Given the description of an element on the screen output the (x, y) to click on. 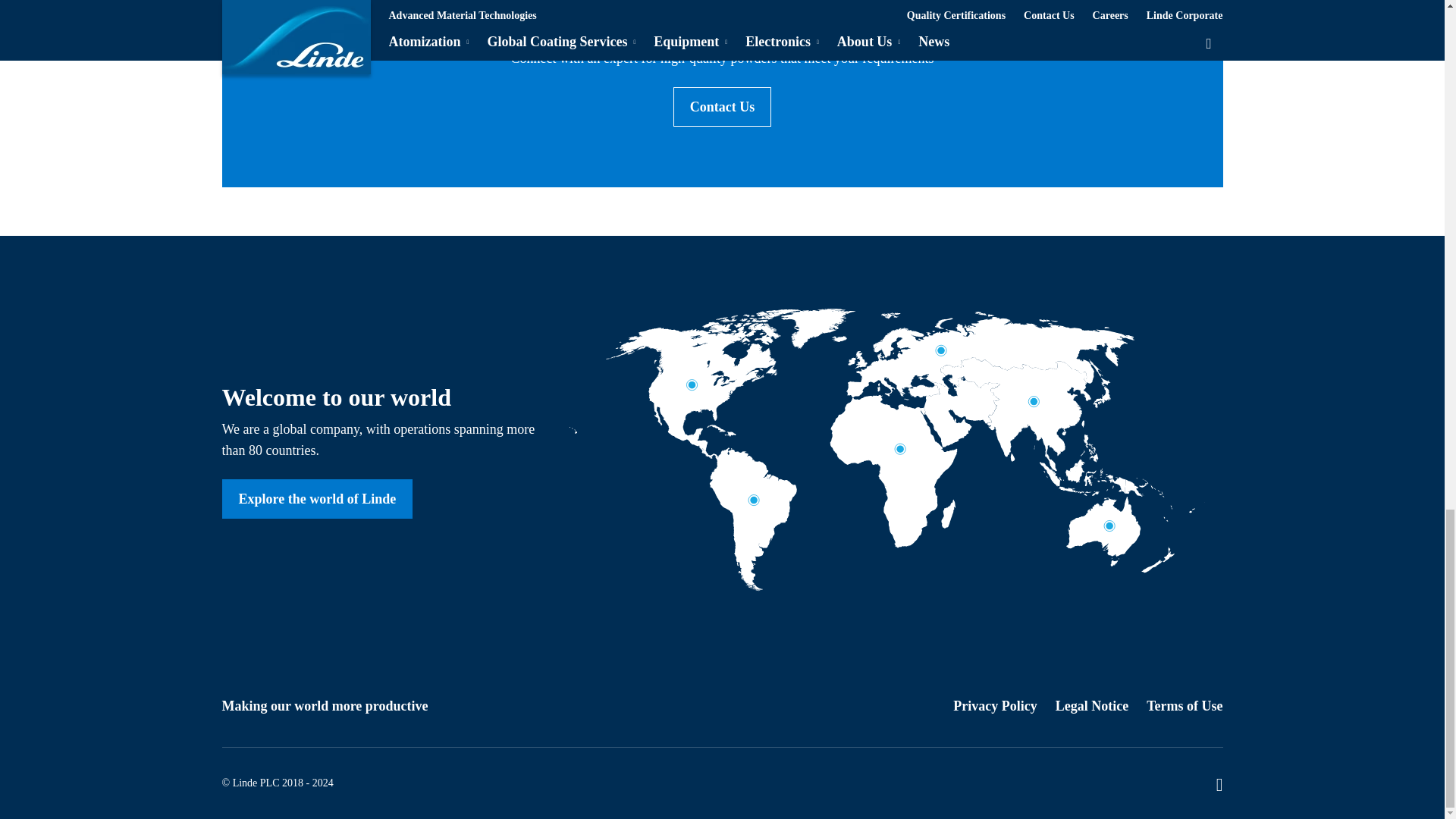
Explore the world of Linde (316, 498)
Privacy Policy (994, 705)
Contact Us (721, 106)
